Given the description of an element on the screen output the (x, y) to click on. 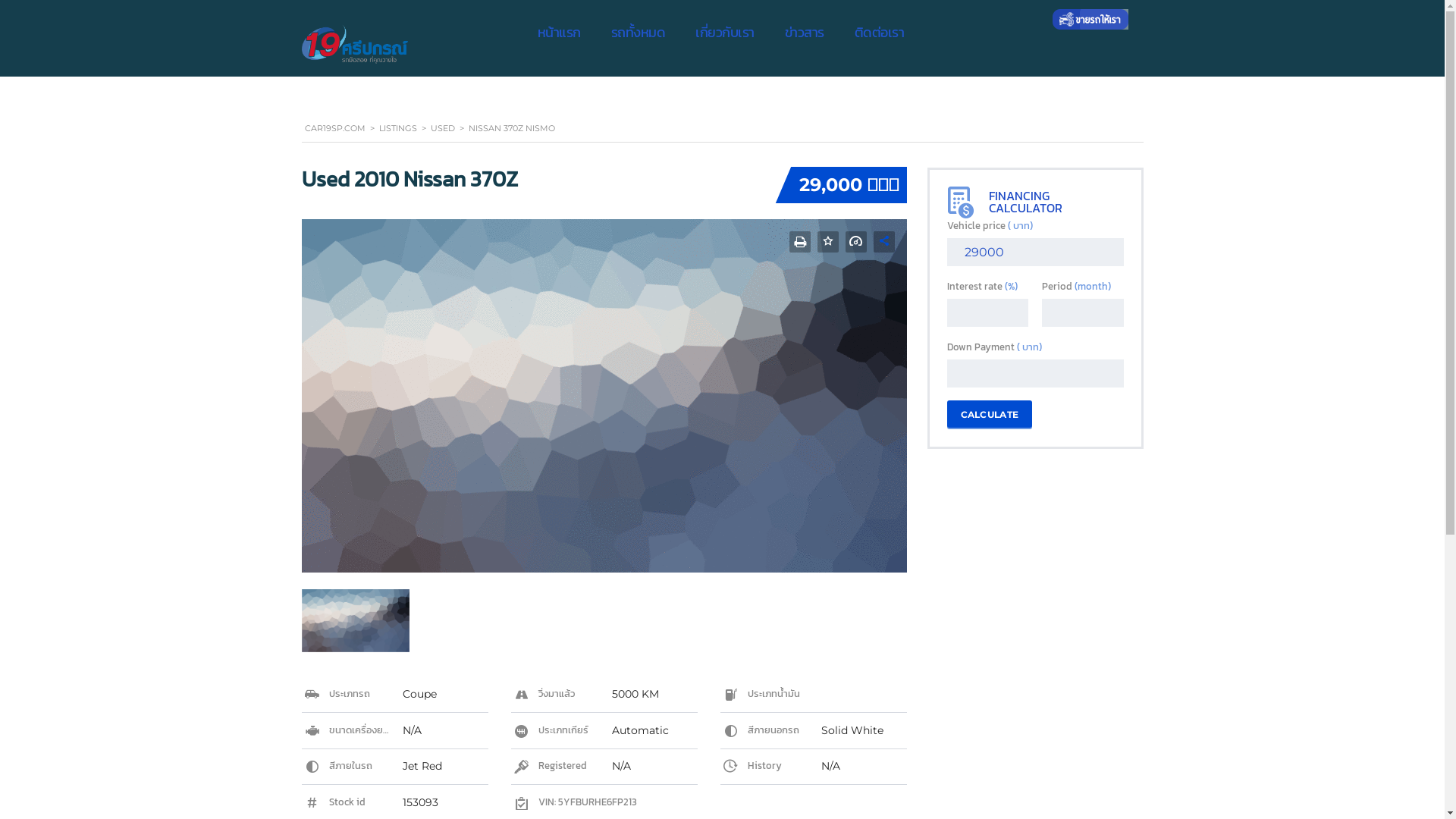
Home Element type: hover (354, 43)
CAR19SP.COM Element type: text (334, 127)
CALCULATE Element type: text (989, 413)
USED Element type: text (442, 127)
LISTINGS Element type: text (398, 127)
